Given the description of an element on the screen output the (x, y) to click on. 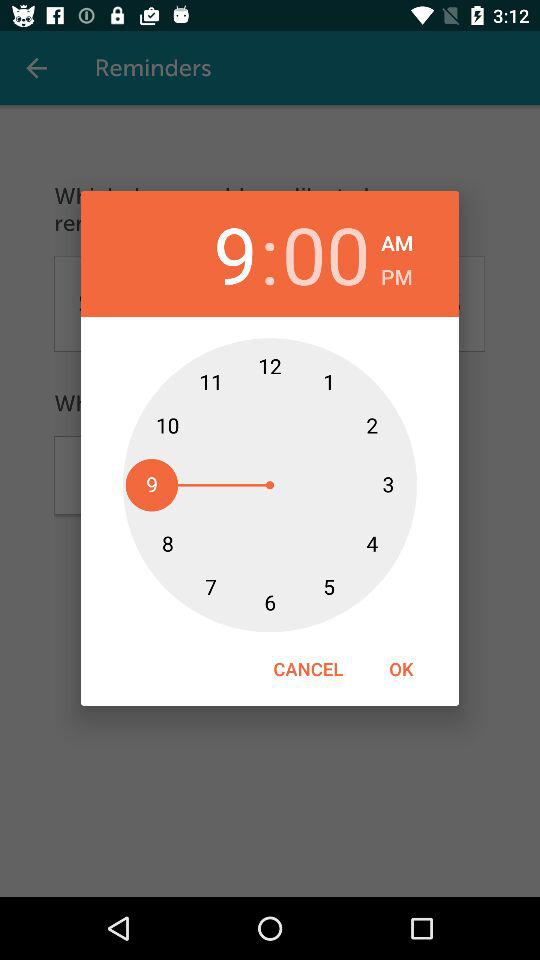
launch icon below am item (396, 273)
